Given the description of an element on the screen output the (x, y) to click on. 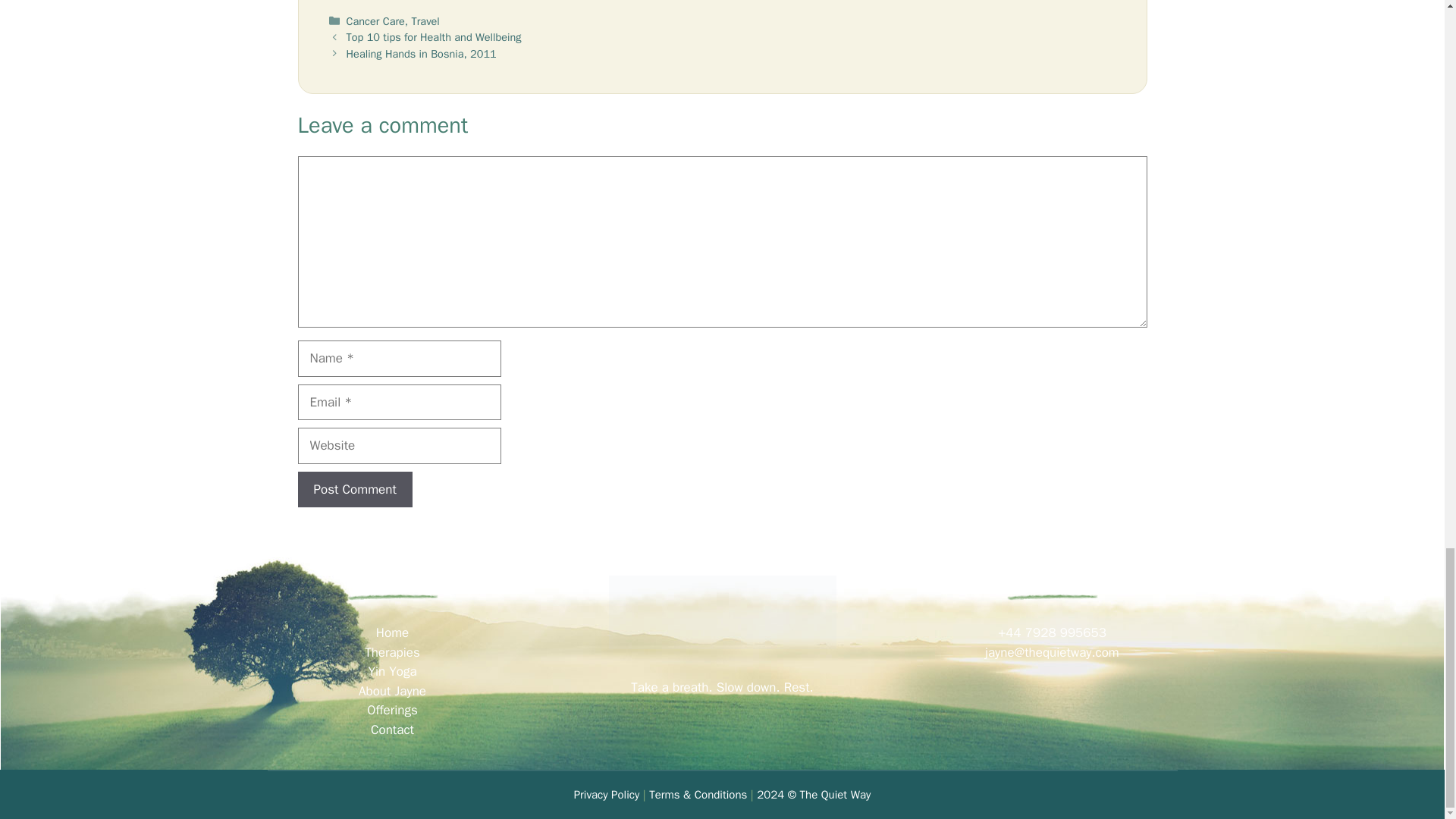
Offerings (391, 709)
Therapies (392, 652)
Healing Hands in Bosnia, 2011 (421, 53)
Cancer Care (375, 20)
About Jayne (392, 691)
Top 10 tips for Health and Wellbeing (433, 37)
Travel (425, 20)
Home (392, 632)
Post Comment (354, 489)
Privacy Policy (606, 794)
Yin Yoga (392, 671)
Contact (392, 729)
Post Comment (354, 489)
